Given the description of an element on the screen output the (x, y) to click on. 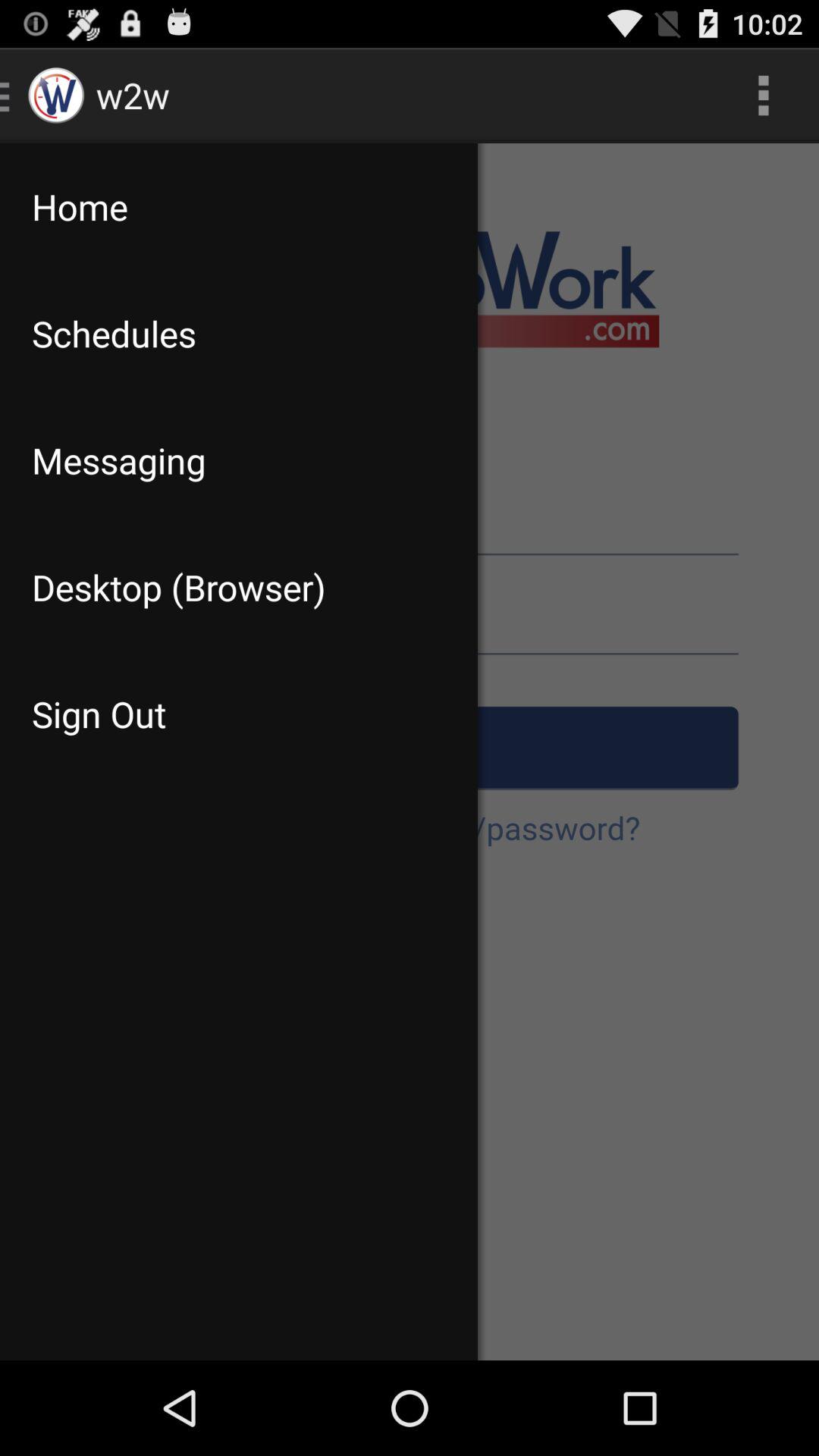
select icon above desktop (browser) app (238, 460)
